Given the description of an element on the screen output the (x, y) to click on. 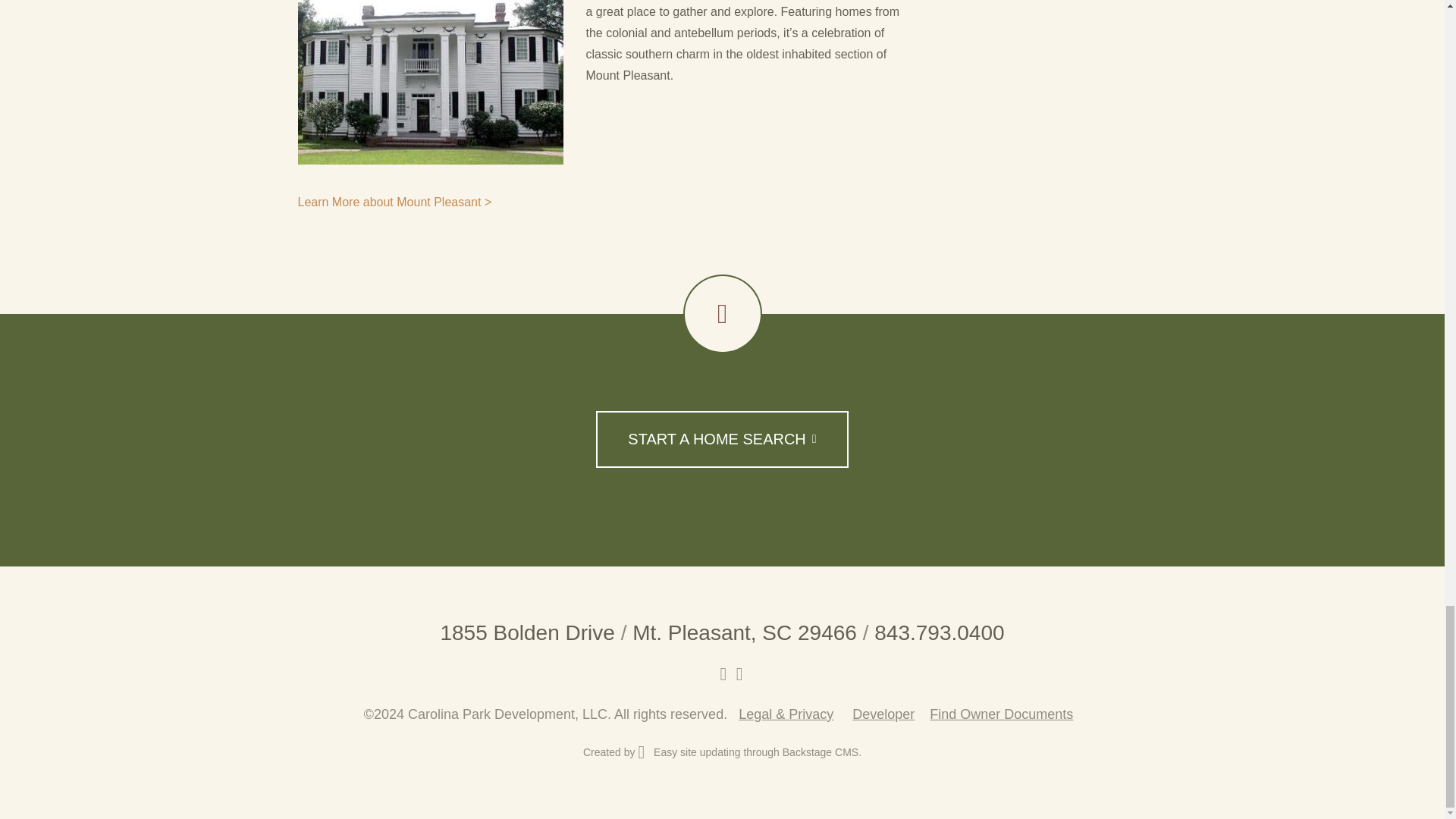
START A HOME SEARCH (721, 439)
